Given the description of an element on the screen output the (x, y) to click on. 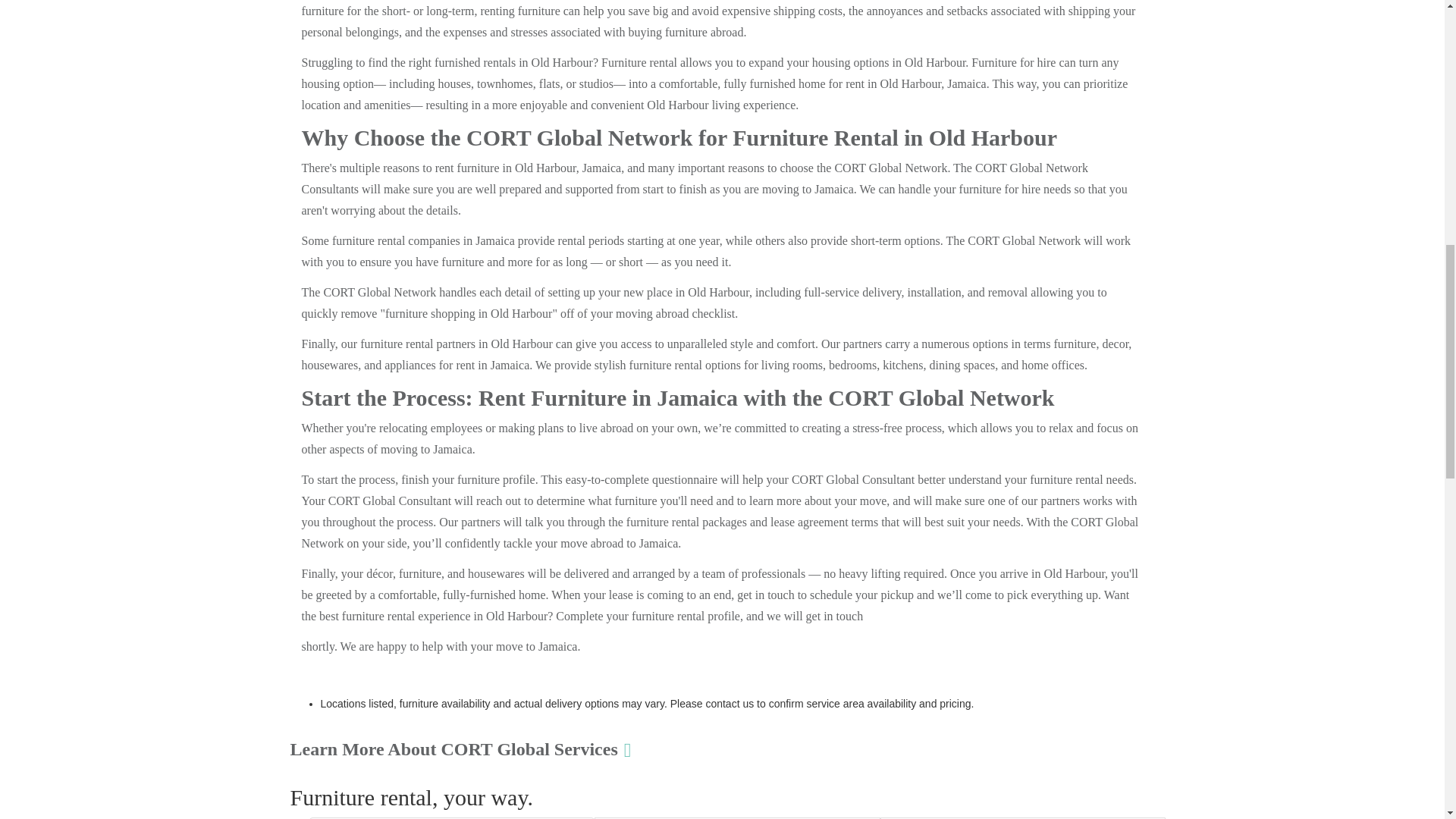
Learn More About CORT Global Services (459, 749)
